Given the description of an element on the screen output the (x, y) to click on. 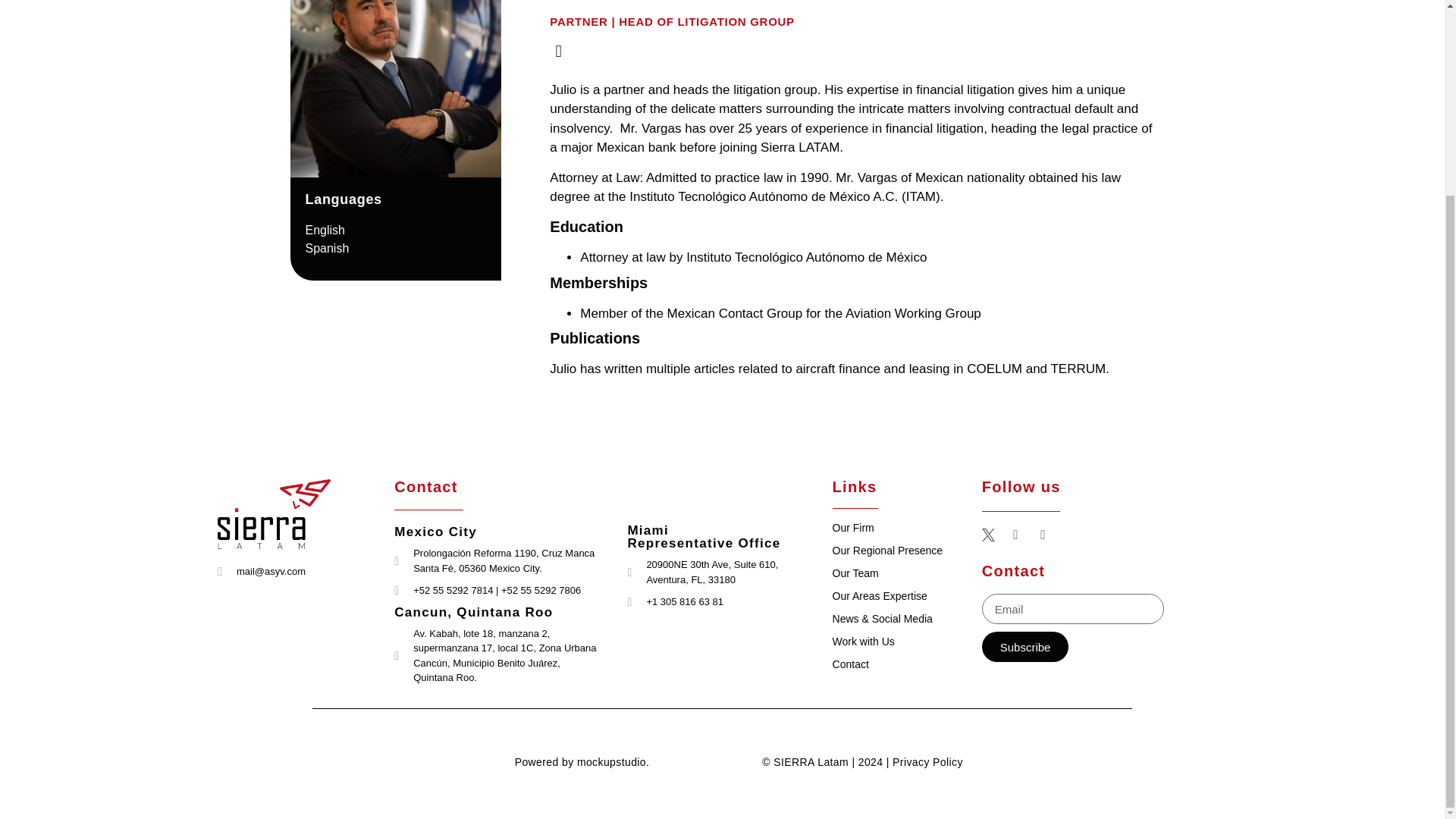
mockupstudio (611, 761)
Our Regional Presence (887, 550)
Work with Us (863, 641)
Our Team (855, 573)
Contact (850, 664)
Our Areas Expertise (879, 595)
Subscribe (1024, 646)
Our Firm (853, 527)
